Given the description of an element on the screen output the (x, y) to click on. 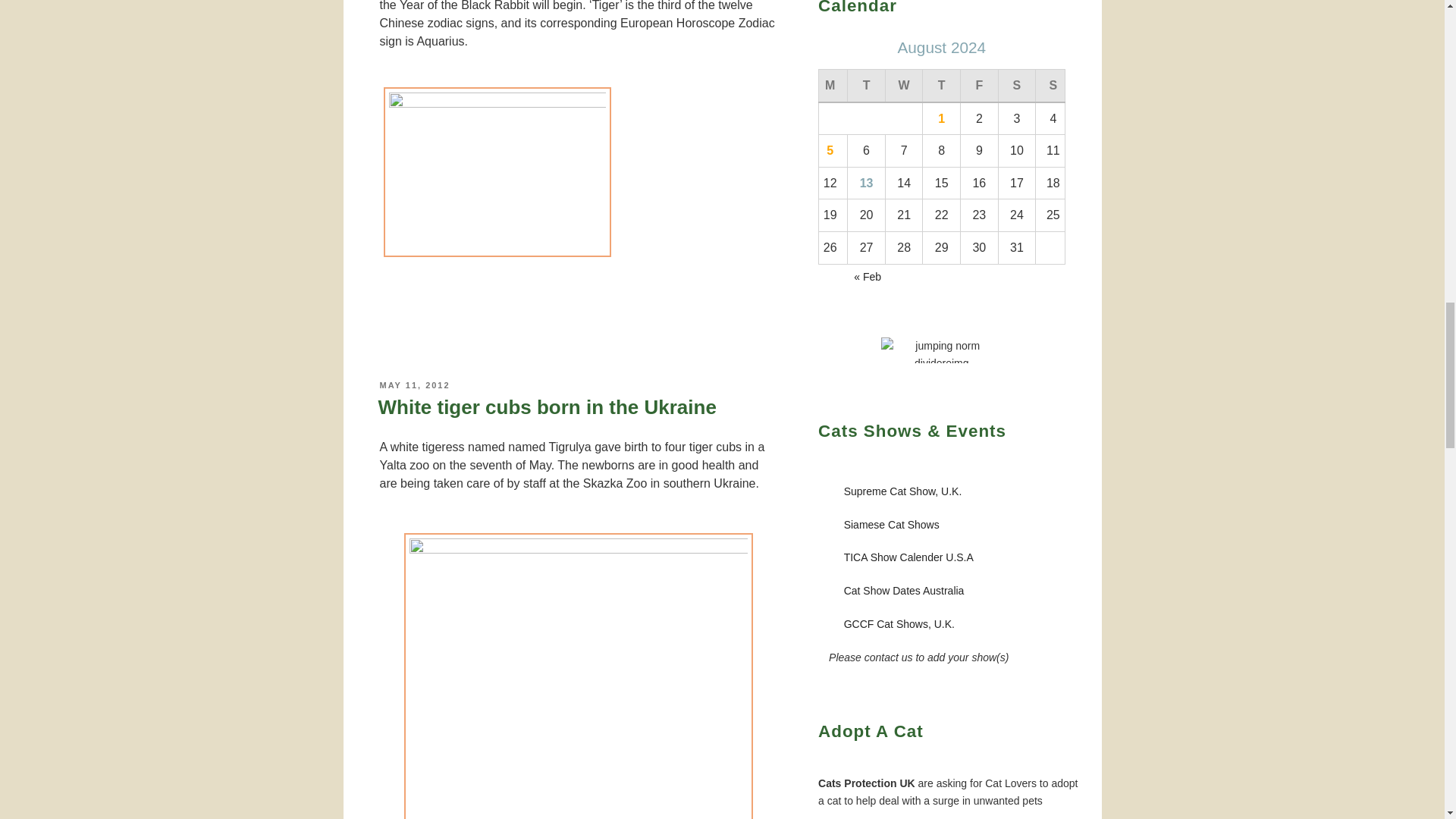
Wednesday (904, 84)
MAY 11, 2012 (413, 384)
Tuesday (866, 84)
White tiger cubs born in the Ukraine (546, 406)
Friday (979, 84)
Saturday (1016, 84)
Thursday (941, 84)
